Given the description of an element on the screen output the (x, y) to click on. 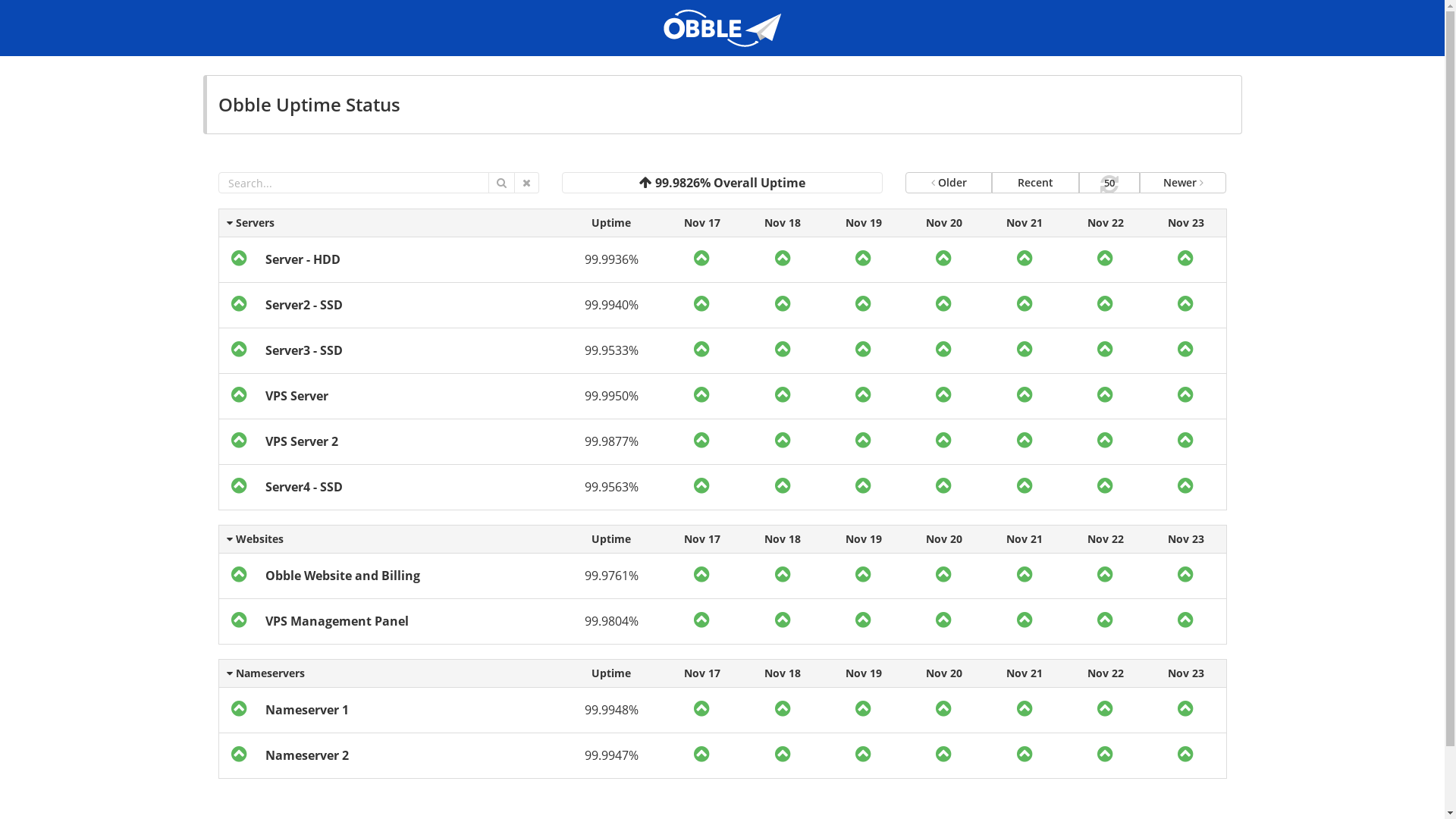
Server2 - SSD Element type: text (303, 304)
Server - HDD Element type: text (302, 259)
99.9761% Element type: text (611, 575)
99.9948% Element type: text (611, 709)
99.9950% Element type: text (611, 395)
99.9947% Element type: text (611, 754)
99.9877% Element type: text (611, 441)
VPS Server Element type: text (296, 395)
VPS Management Panel Element type: text (336, 620)
Servers Element type: text (389, 222)
Websites Element type: text (389, 538)
Newer Element type: text (1182, 182)
99.9936% Element type: text (611, 259)
99.9533% Element type: text (611, 350)
99.9940% Element type: text (611, 304)
52 Element type: text (1109, 182)
99.9563% Element type: text (611, 486)
99.9804% Element type: text (611, 620)
VPS Server 2 Element type: text (301, 441)
Nameserver 1 Element type: text (306, 709)
Nameservers Element type: text (389, 672)
Nameserver 2 Element type: text (306, 754)
Server4 - SSD Element type: text (303, 486)
Obble Website and Billing Element type: text (342, 575)
Server3 - SSD Element type: text (303, 350)
Recent Element type: text (1034, 182)
Older Element type: text (948, 182)
